Given the description of an element on the screen output the (x, y) to click on. 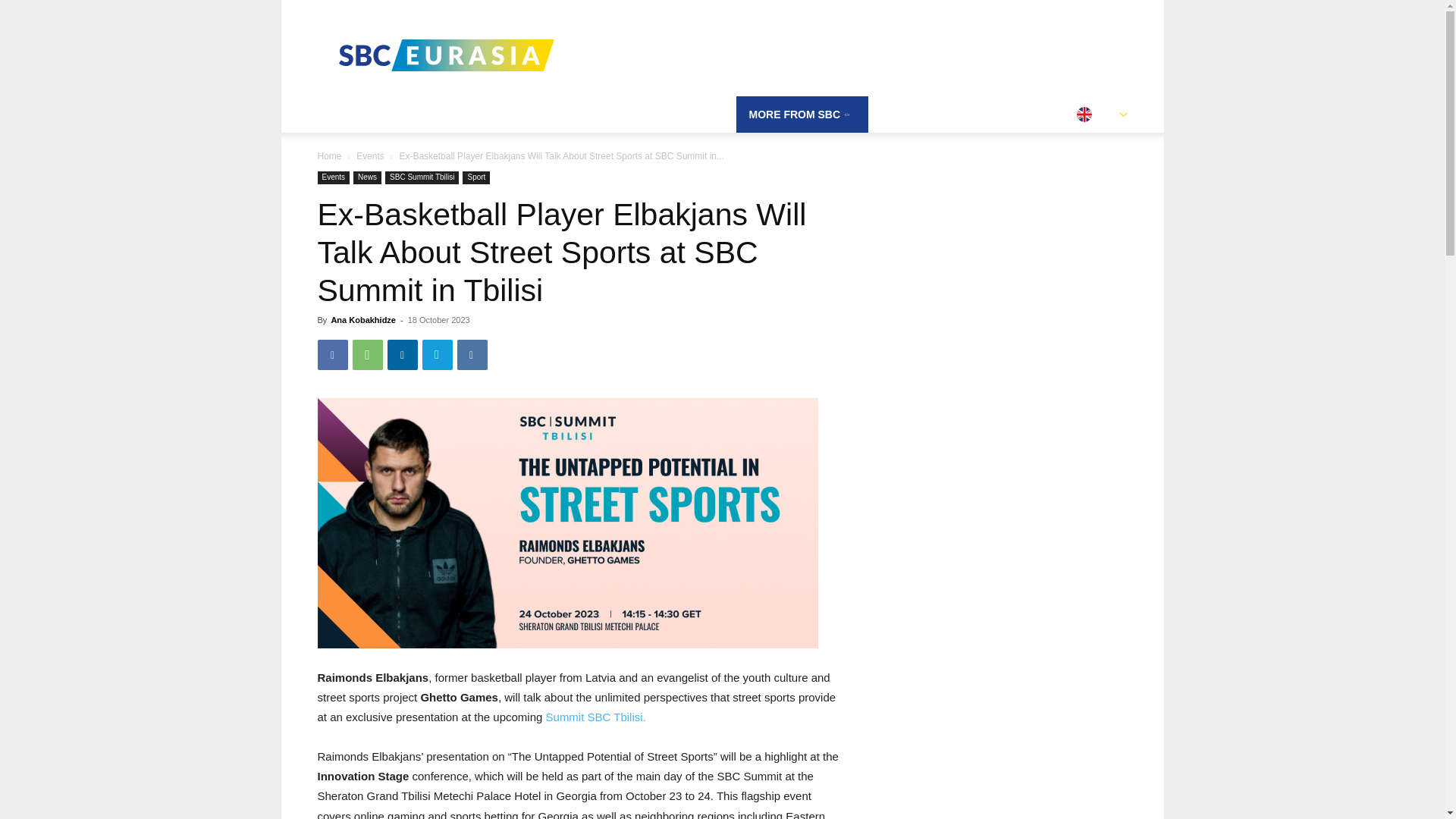
View all posts in Events (370, 155)
Telegram (436, 354)
Linkedin (401, 354)
VK (471, 354)
SBC Eurasia (445, 54)
Facebook (332, 354)
WhatsApp (366, 354)
